Given the description of an element on the screen output the (x, y) to click on. 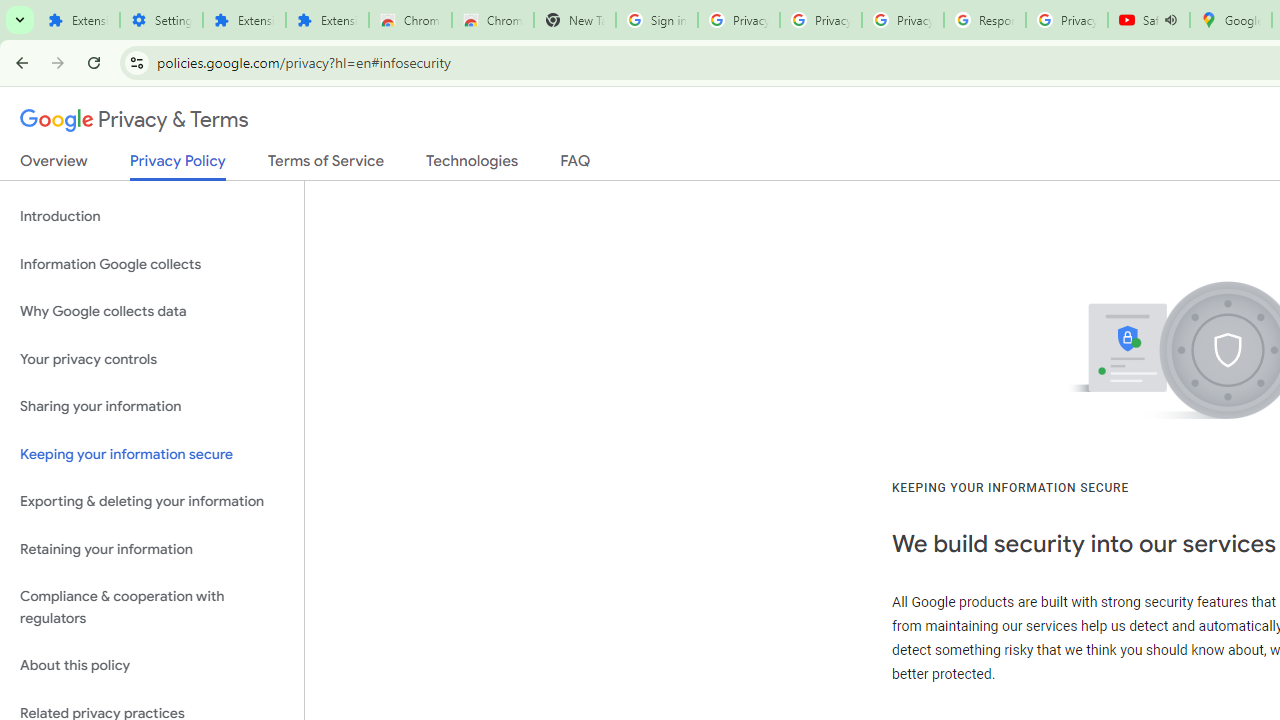
Your privacy controls (152, 358)
About this policy (152, 666)
Extensions (326, 20)
Extensions (78, 20)
Extensions (244, 20)
